Given the description of an element on the screen output the (x, y) to click on. 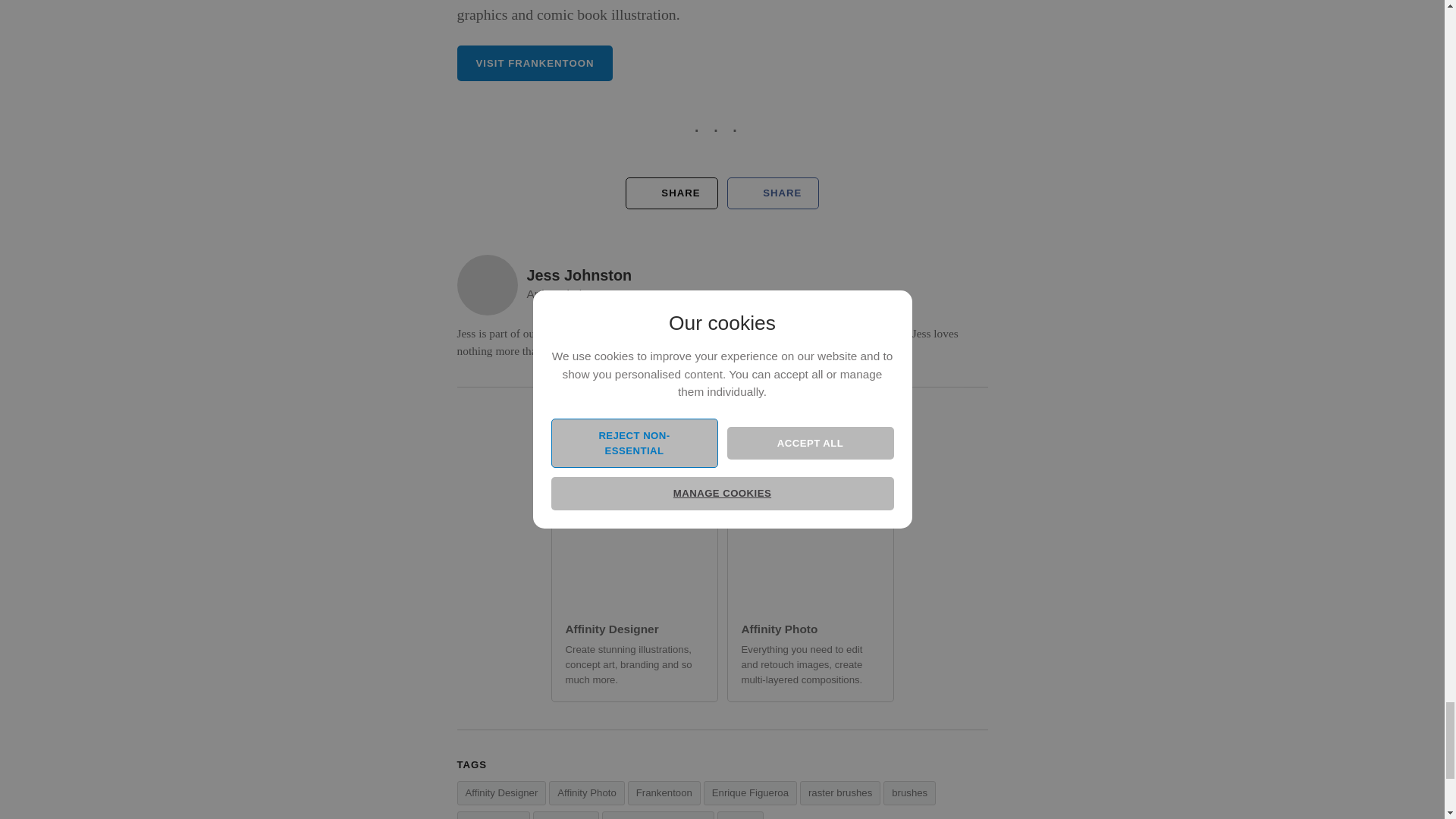
Frankentoon (663, 793)
Affinity Store (493, 815)
SHARE (671, 193)
Enrique Figueroa (749, 793)
Concept master Vol 1 (658, 815)
VISIT FRANKENTOON (534, 63)
Affinity Photo (586, 793)
Jess Johnston (578, 274)
Affinity Designer (501, 793)
SHARE (772, 193)
